Given the description of an element on the screen output the (x, y) to click on. 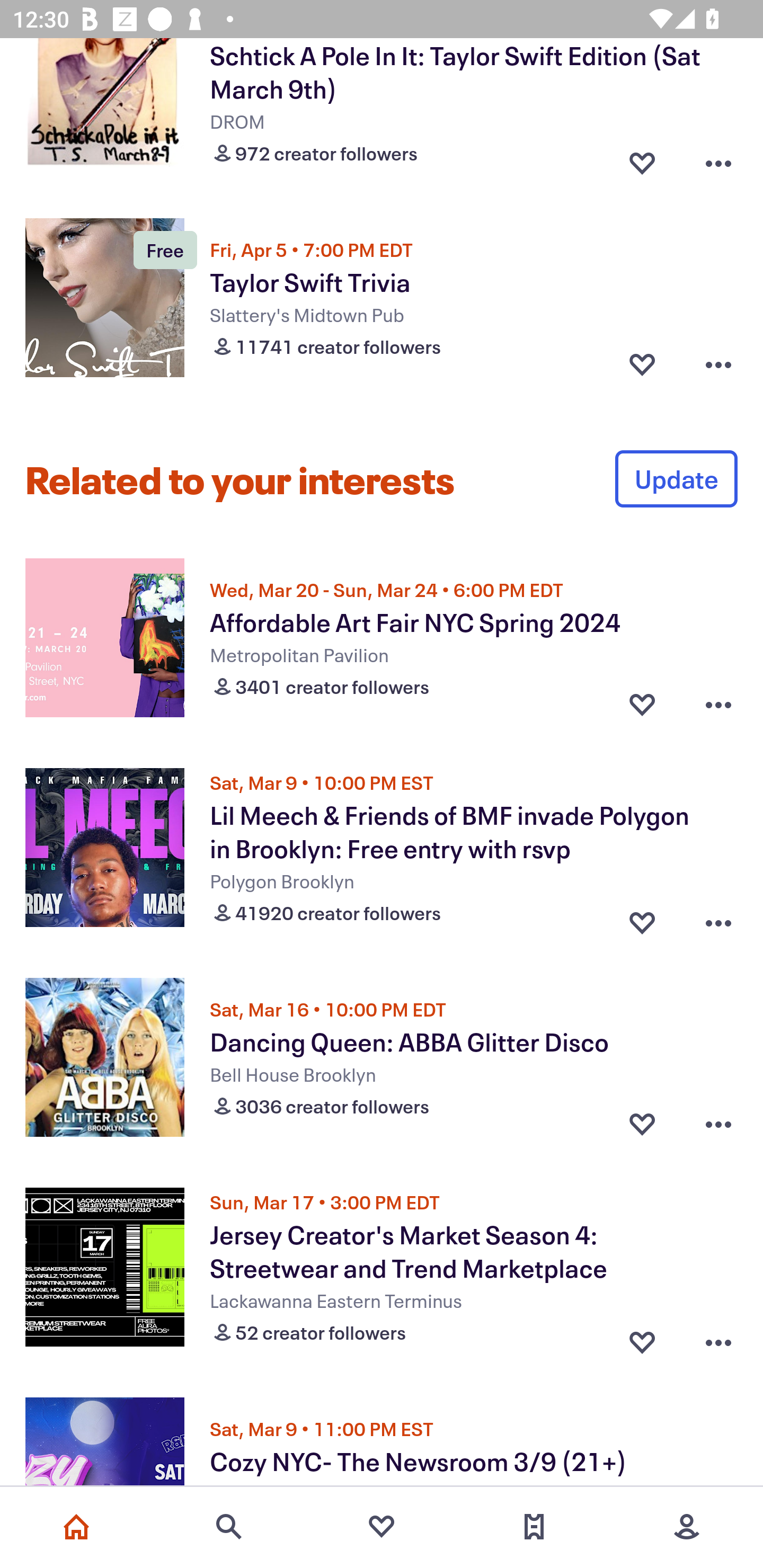
Favorite button (642, 158)
Overflow menu button (718, 158)
Favorite button (642, 364)
Overflow menu button (718, 364)
Update (675, 479)
Favorite button (642, 704)
Overflow menu button (718, 704)
Favorite button (642, 918)
Overflow menu button (718, 918)
Favorite button (642, 1123)
Overflow menu button (718, 1123)
Favorite button (642, 1338)
Overflow menu button (718, 1338)
Home (76, 1526)
Search events (228, 1526)
Favorites (381, 1526)
Tickets (533, 1526)
More (686, 1526)
